Given the description of an element on the screen output the (x, y) to click on. 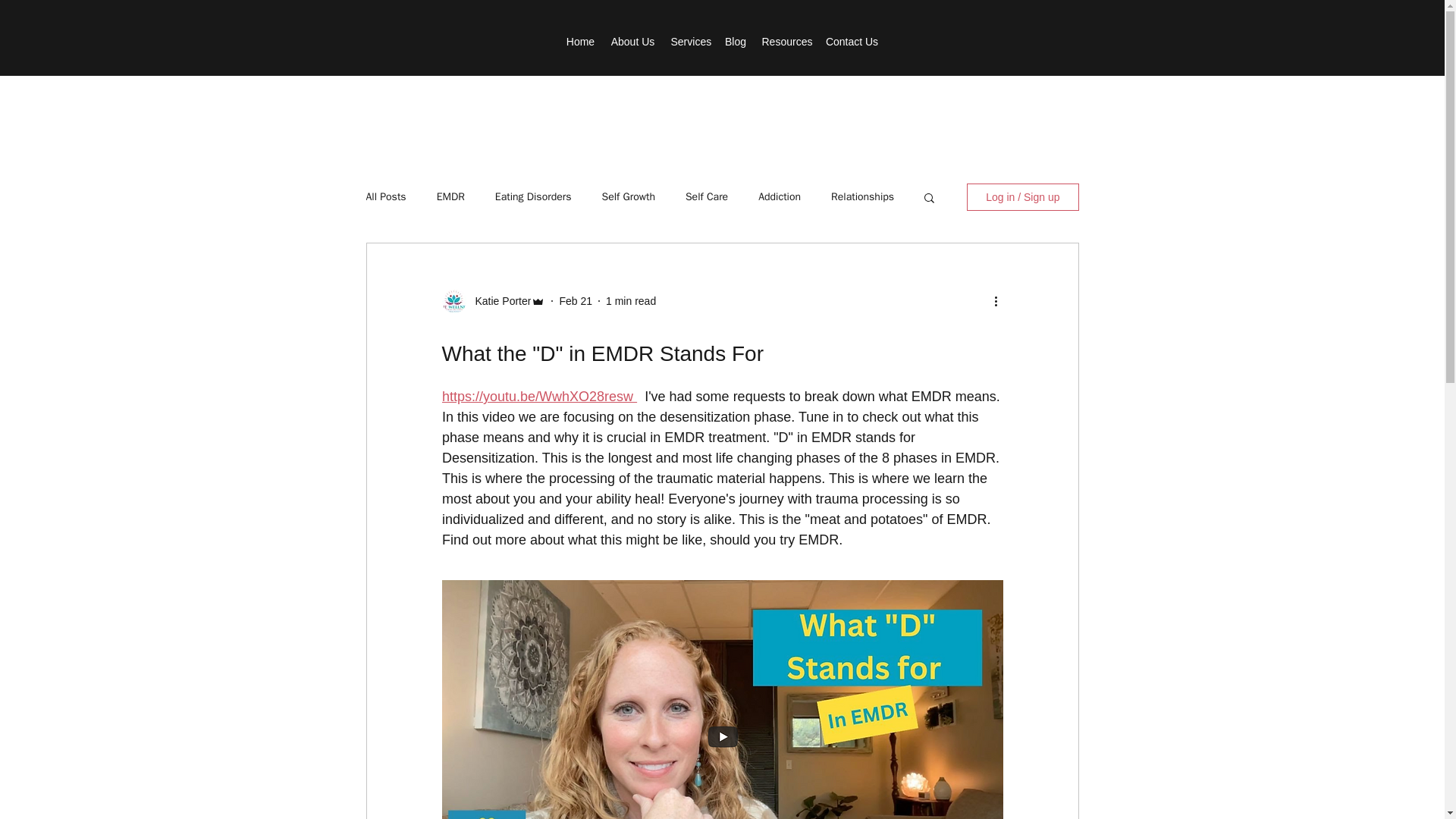
Resources (785, 41)
Services (689, 41)
Self Growth (628, 196)
Blog (735, 41)
1 min read (630, 300)
Relationships (862, 196)
About Us (632, 41)
Feb 21 (575, 300)
Addiction (779, 196)
Self Care (706, 196)
Eating Disorders (533, 196)
Home (579, 41)
Contact Us (850, 41)
EMDR (450, 196)
Katie Porter (498, 300)
